Given the description of an element on the screen output the (x, y) to click on. 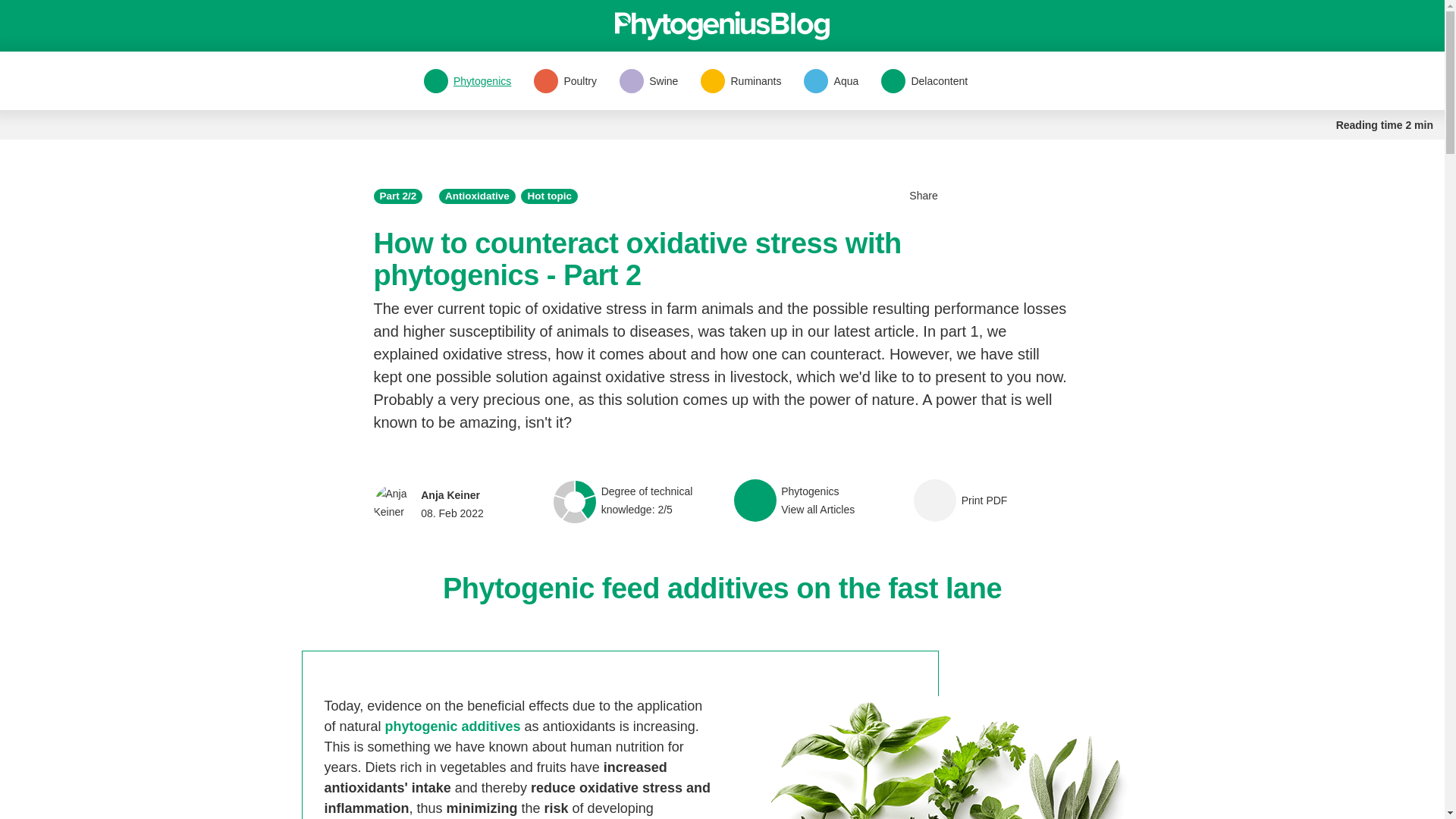
Print PDF (960, 500)
Phytogenics (794, 500)
phytogenic additives (467, 80)
Ruminants (453, 726)
Antioxidative (740, 80)
Aqua (477, 196)
Delacontent (830, 80)
Poultry (427, 504)
Hot topic (923, 80)
Swine (565, 80)
